Given the description of an element on the screen output the (x, y) to click on. 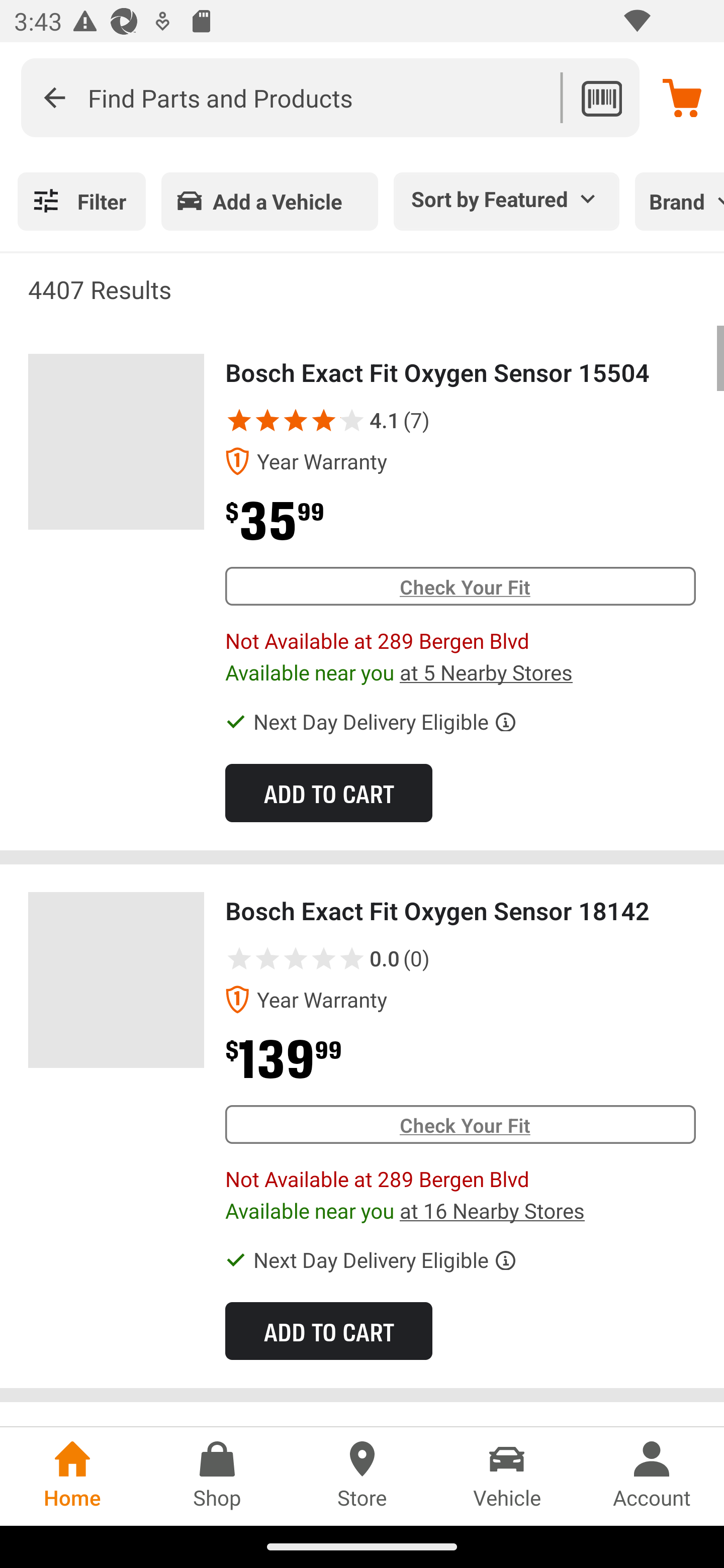
 scan-product-to-search  (601, 97)
 (54, 97)
Cart, no items  (681, 97)
Filter (81, 201)
 Add a Vehicle (269, 201)
Brand  (679, 201)
collapsed Sort by Featured  (506, 198)
Bosch Exact Fit Oxygen Sensor 15504 (116, 441)
 (239, 420)
 (267, 420)
 (295, 420)
 (323, 420)
 (339, 420)
Check your fit Check Your Fit (460, 586)
Add to cart ADD TO CART (328, 792)
Bosch Exact Fit Oxygen Sensor 18142 (116, 979)
Press to rate 1 out of 5  (239, 957)
Press to rate 2 out of 5  (267, 957)
Press to rate 3 out of 5  (295, 957)
Press to rate 4 out of 5  (323, 957)
Press to rate 5 out of 5  (352, 957)
Check your fit Check Your Fit (460, 1124)
Add to cart ADD TO CART (328, 1330)
Home (72, 1475)
Shop (216, 1475)
Store (361, 1475)
Vehicle (506, 1475)
Account (651, 1475)
